Given the description of an element on the screen output the (x, y) to click on. 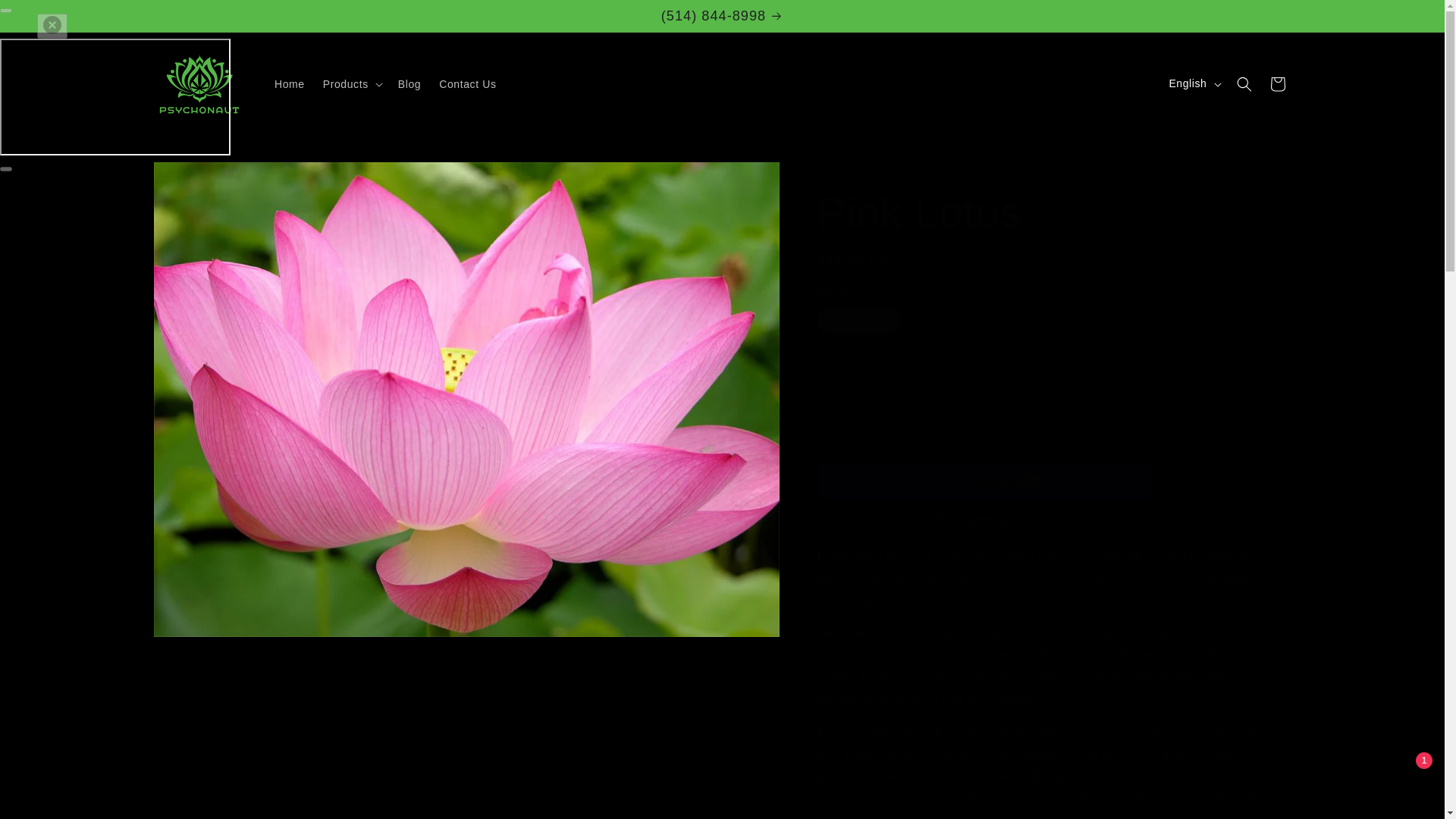
English (1192, 83)
Contact Us (467, 83)
Skip to product information (199, 179)
Shopify online store chat (1404, 781)
Blog (408, 83)
1 (870, 384)
Increase quantity for Pink Lotus (906, 384)
Decrease quantity for Pink Lotus (833, 384)
Cart (1277, 83)
Skip to content (45, 17)
